Given the description of an element on the screen output the (x, y) to click on. 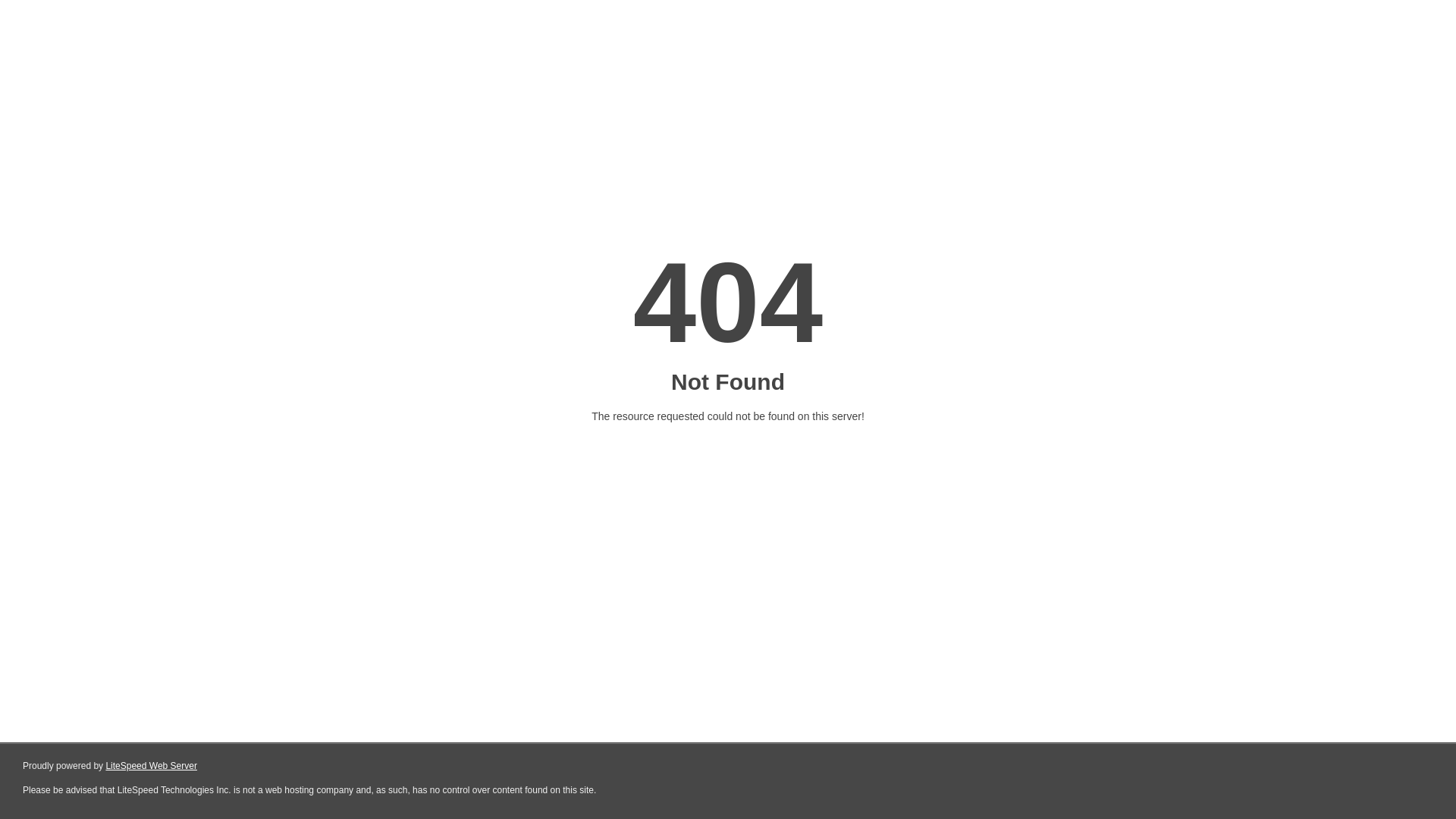
LiteSpeed Web Server Element type: text (151, 765)
